Given the description of an element on the screen output the (x, y) to click on. 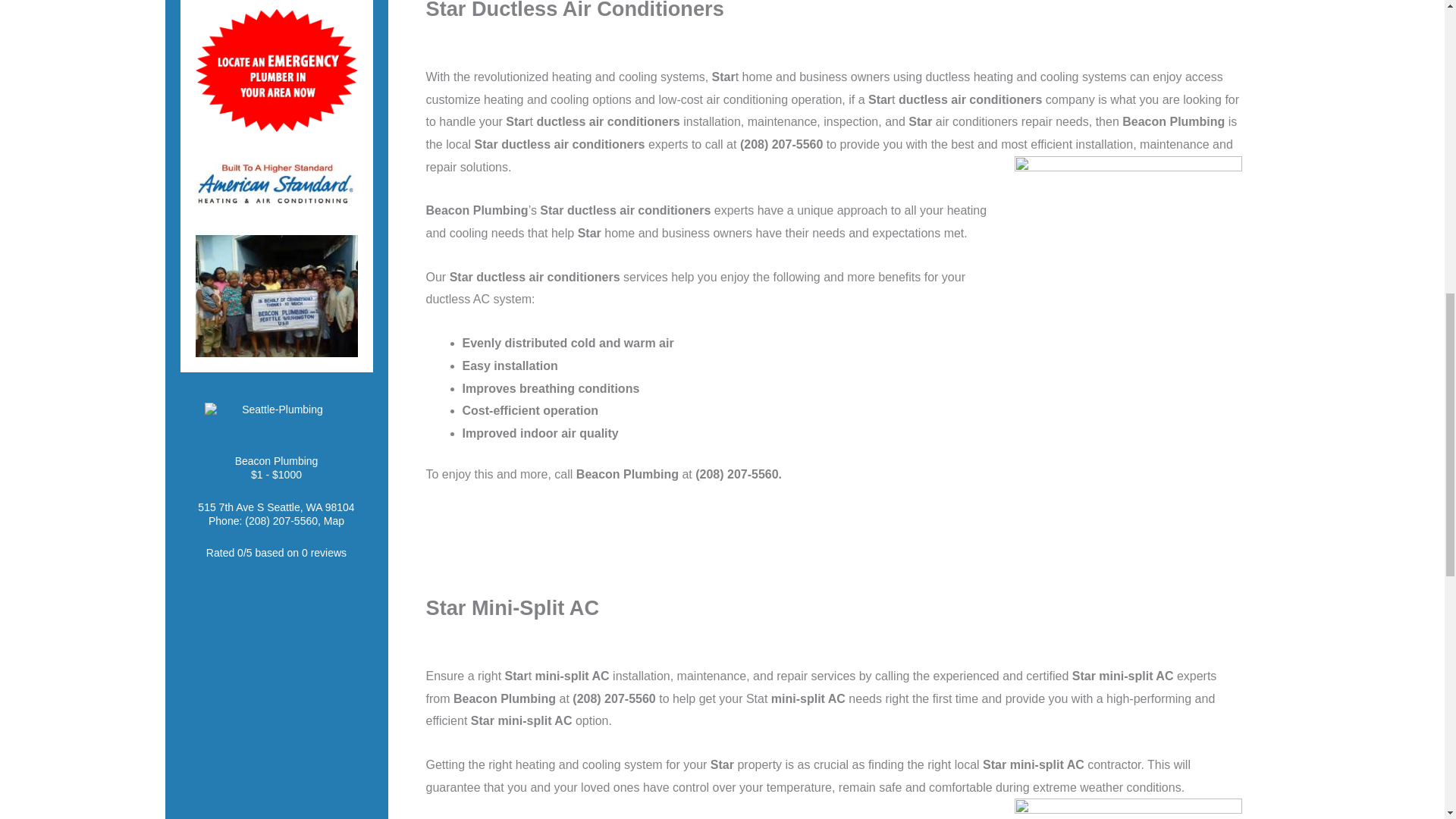
local-plumbing-seattle-wa.jpg (276, 296)
Plumber-in-Seattle-Area.png (276, 70)
